Given the description of an element on the screen output the (x, y) to click on. 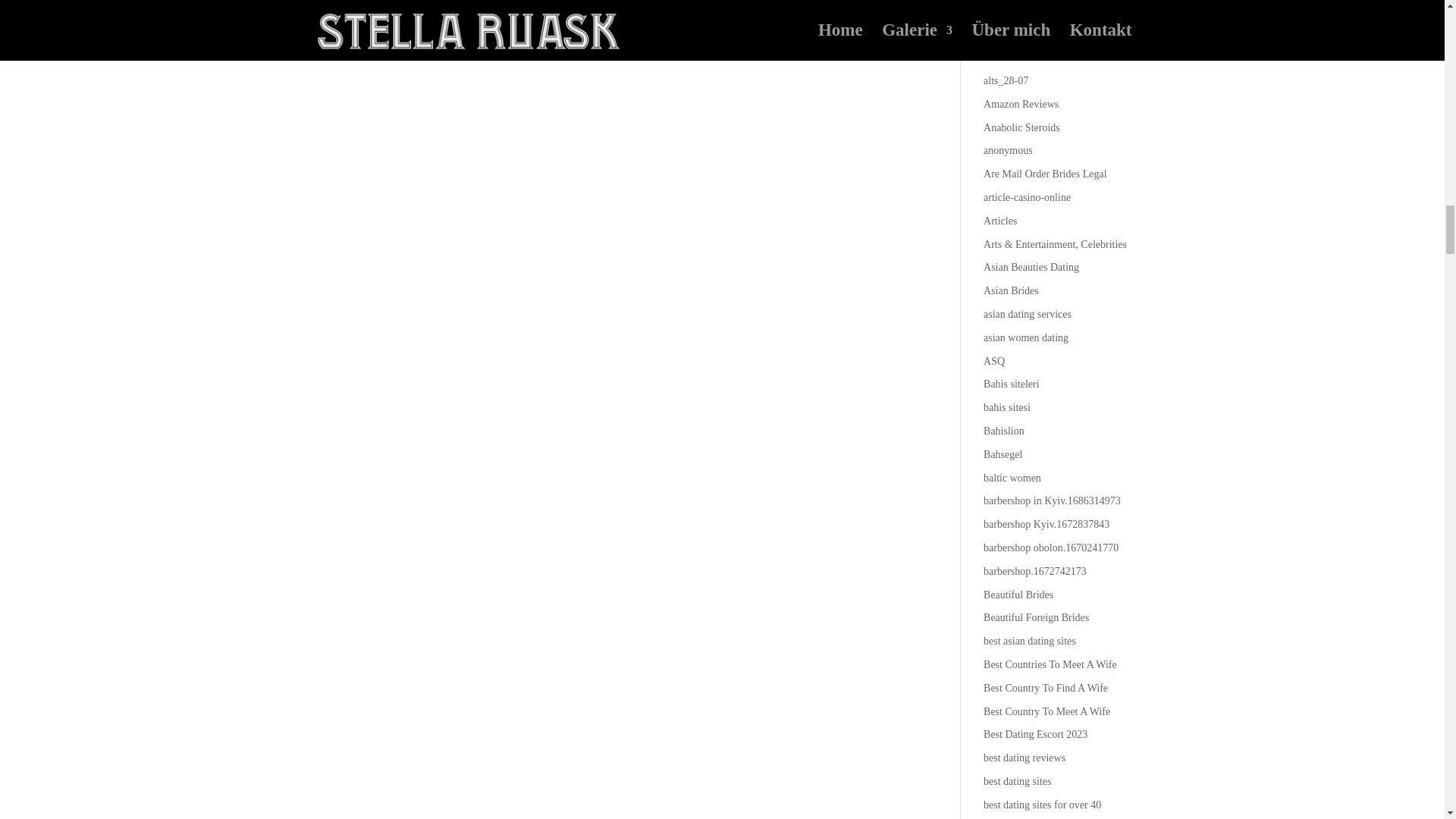
anonymous (1008, 150)
